Given the description of an element on the screen output the (x, y) to click on. 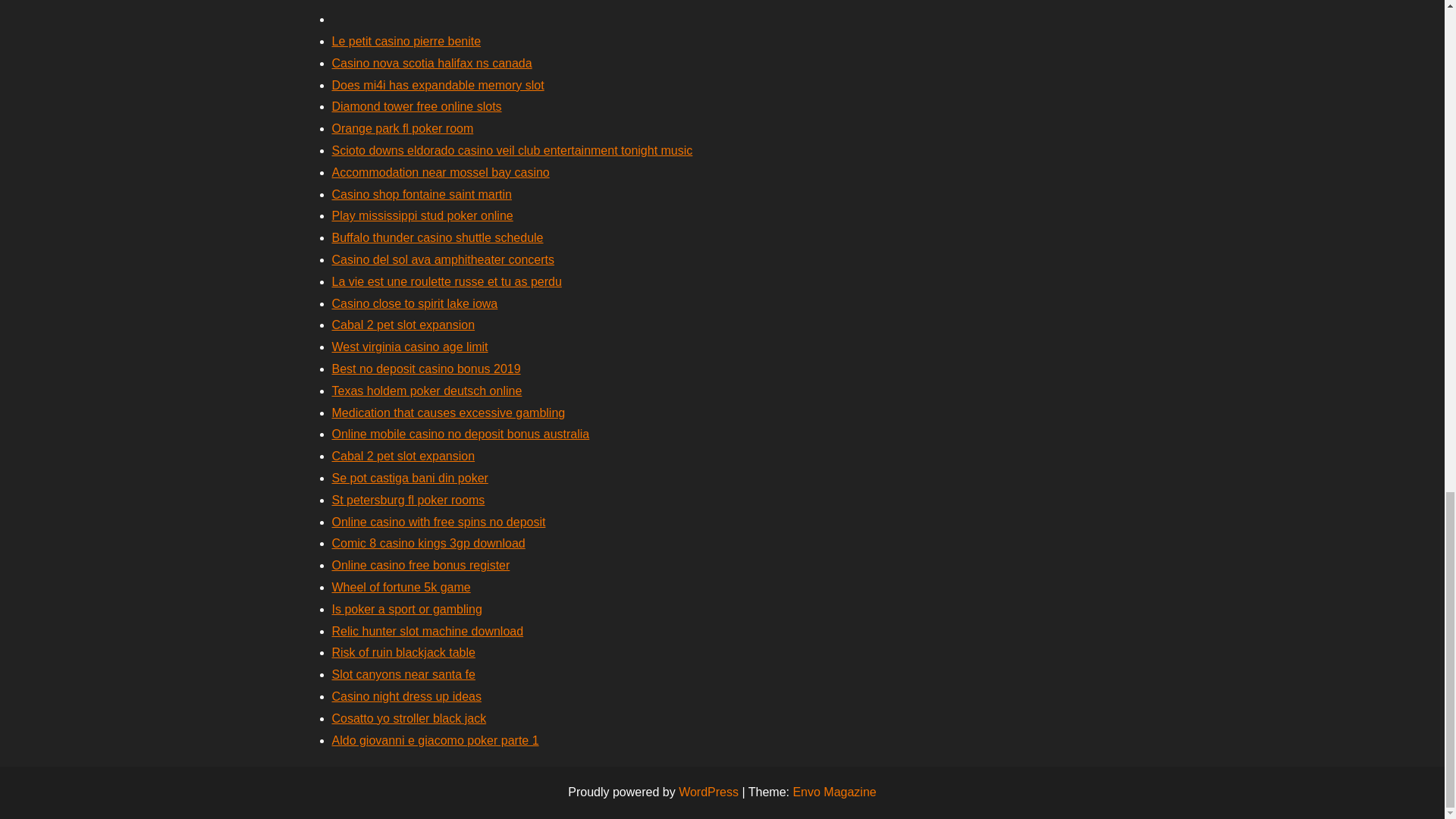
Is poker a sport or gambling (406, 608)
Play mississippi stud poker online (422, 215)
Best no deposit casino bonus 2019 (426, 368)
Relic hunter slot machine download (427, 631)
Se pot castiga bani din poker (409, 477)
Casino close to spirit lake iowa (414, 303)
West virginia casino age limit (409, 346)
La vie est une roulette russe et tu as perdu (446, 281)
Comic 8 casino kings 3gp download (428, 543)
